Given the description of an element on the screen output the (x, y) to click on. 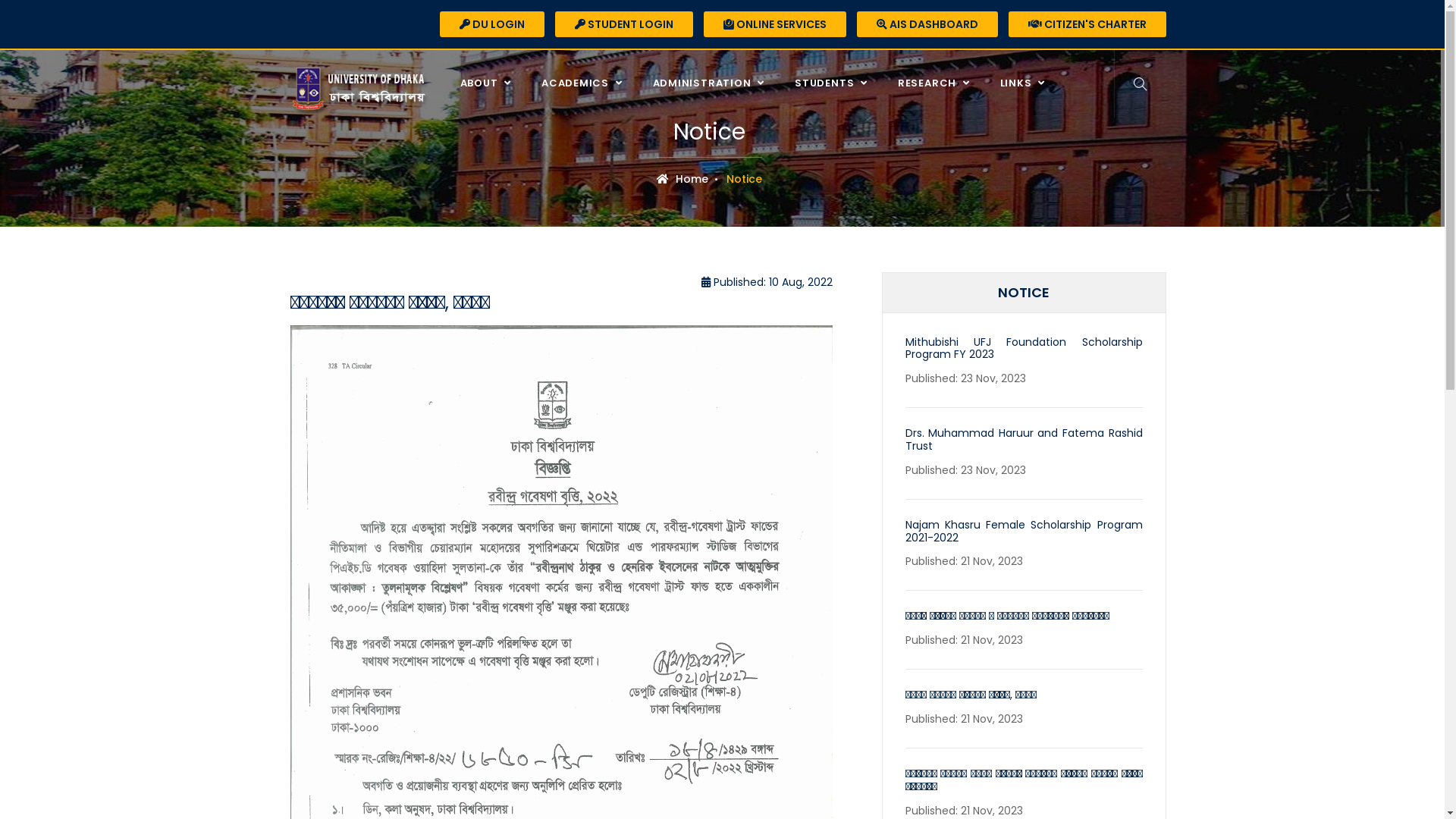
AIS DASHBOARD Element type: text (926, 24)
ABOUT Element type: text (489, 83)
ONLINE SERVICES Element type: text (774, 24)
Mithubishi UFJ Foundation Scholarship Program FY 2023 Element type: text (1023, 348)
Drs. Muhammad Haruur and Fatema Rashid Trust Element type: text (1023, 439)
Published: 10 Aug, 2022 Element type: text (765, 281)
CITIZEN'S CHARTER Element type: text (1087, 24)
STUDENTS Element type: text (834, 83)
Najam Khasru Female Scholarship Program 2021-2022 Element type: text (1023, 531)
LINKS Element type: text (1025, 83)
ADMINISTRATION Element type: text (712, 83)
RESEARCH Element type: text (937, 83)
Home Element type: text (682, 178)
DU LOGIN Element type: text (491, 24)
STUDENT LOGIN Element type: text (624, 24)
ACADEMICS Element type: text (585, 83)
